Given the description of an element on the screen output the (x, y) to click on. 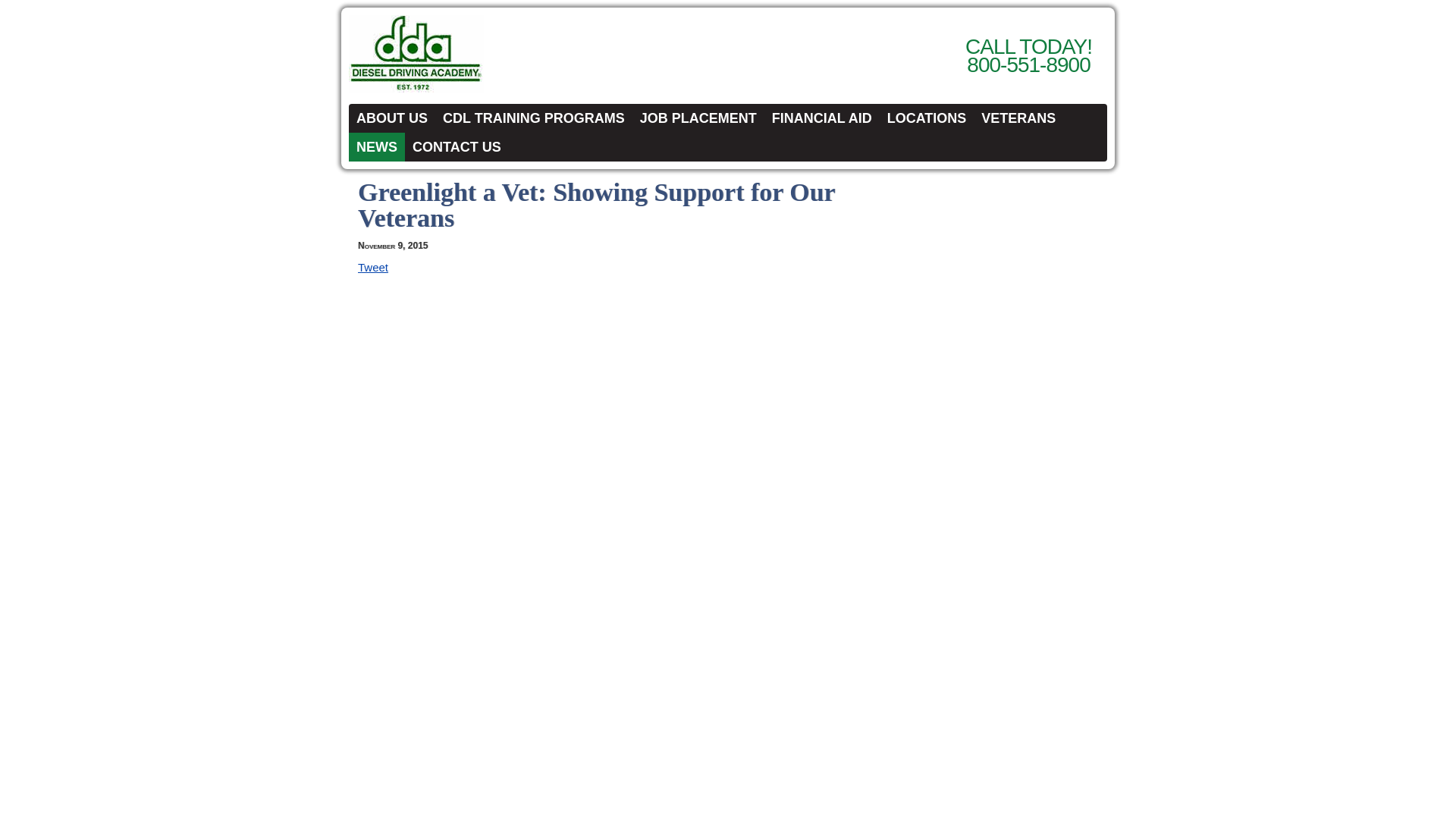
FINANCIAL AID (821, 118)
ABOUT US (392, 118)
VETERANS (1018, 118)
JOB PLACEMENT (697, 118)
LOCATIONS (926, 118)
CDL TRAINING PROGRAMS (533, 118)
800-551-8900 (1027, 64)
Greenlight a Vet: Showing Support for Our Veterans (596, 204)
NEWS (376, 146)
